Given the description of an element on the screen output the (x, y) to click on. 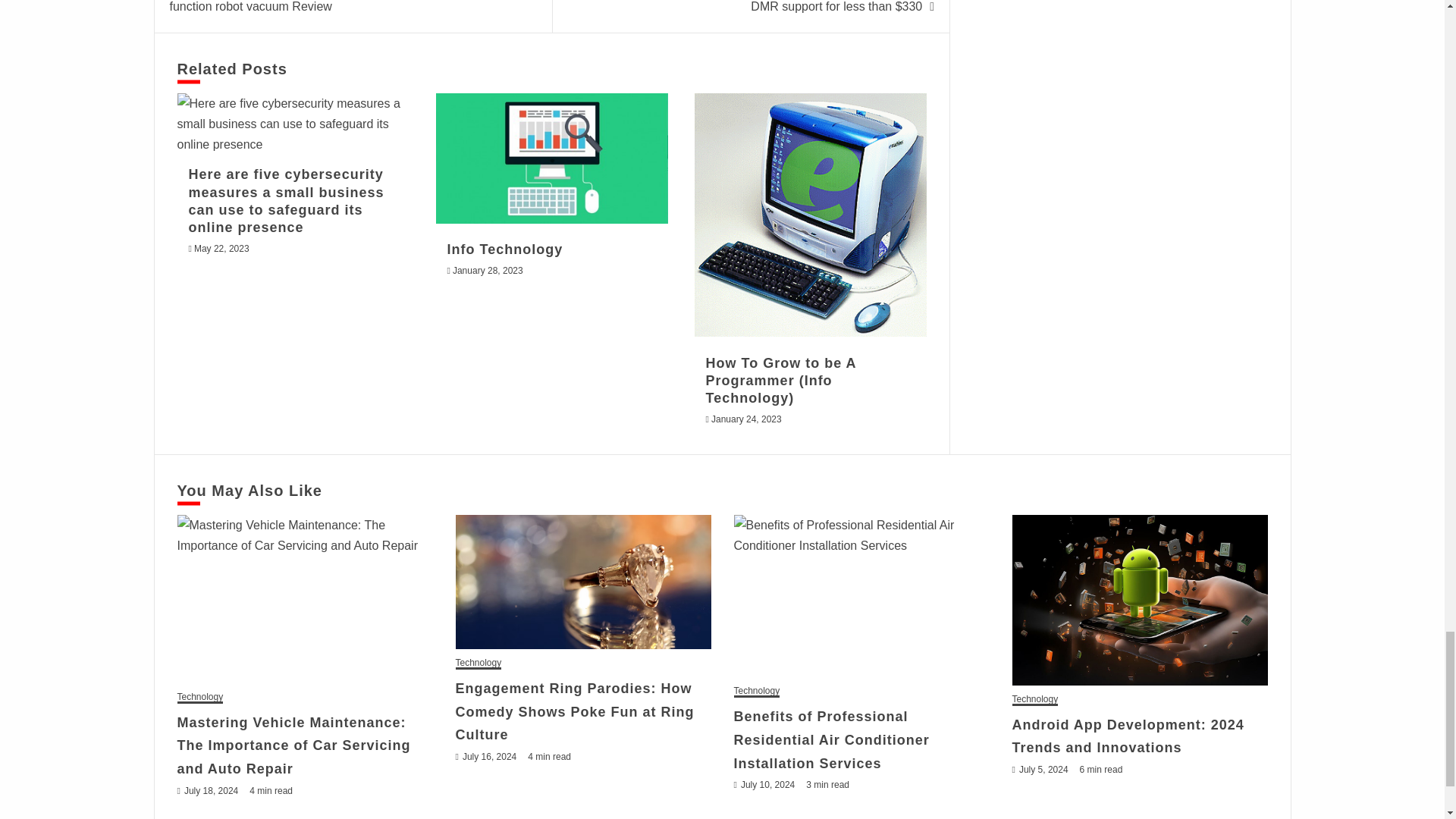
Info Technology (551, 158)
